Given the description of an element on the screen output the (x, y) to click on. 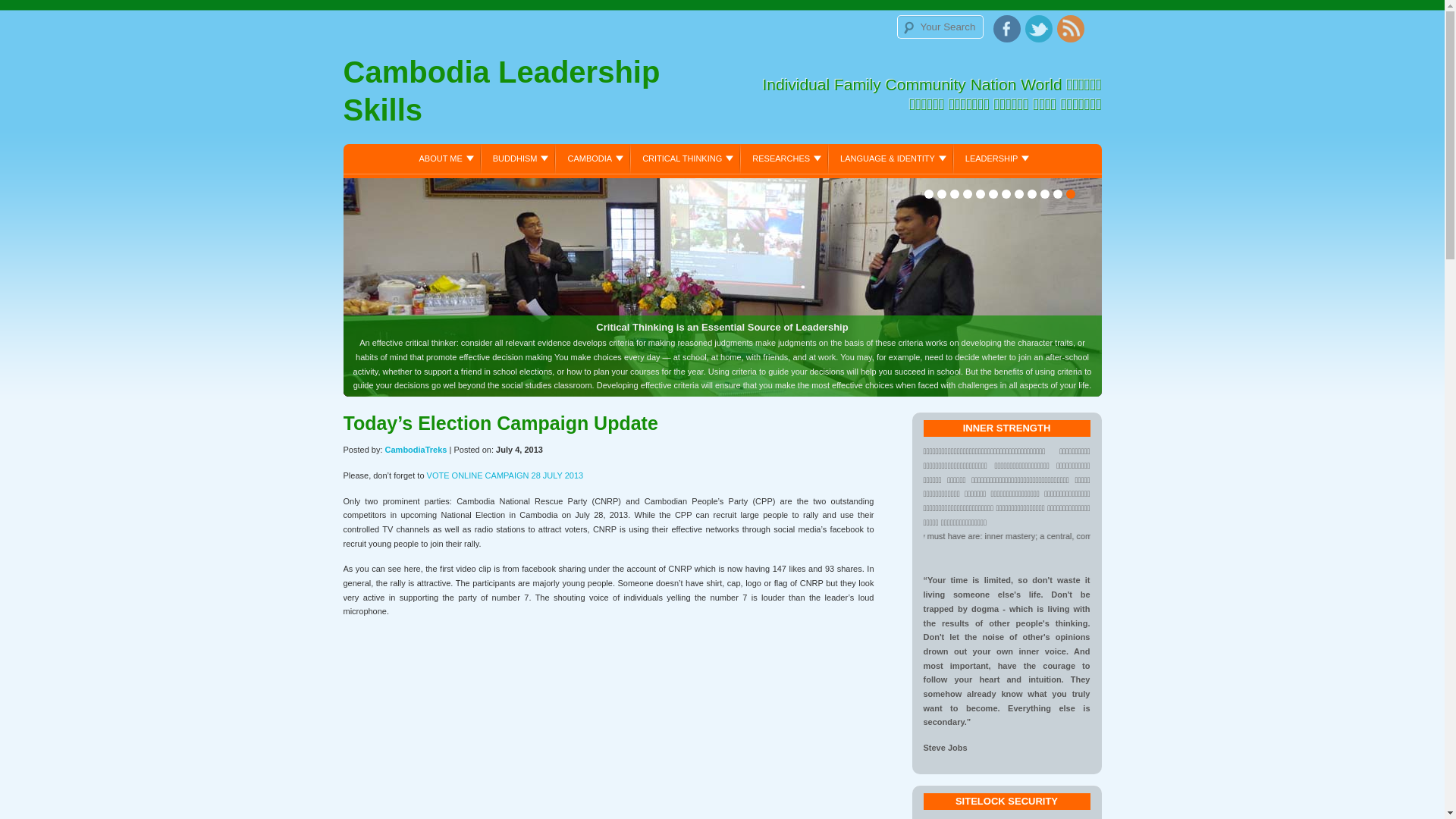
Search (29, 13)
CRITICAL THINKING (685, 158)
ABOUT ME (444, 158)
Posts by CambodiaTreks (415, 449)
Cambodia Leadership Skills (532, 94)
CAMBODIA (593, 158)
BUDDHISM (518, 158)
